Given the description of an element on the screen output the (x, y) to click on. 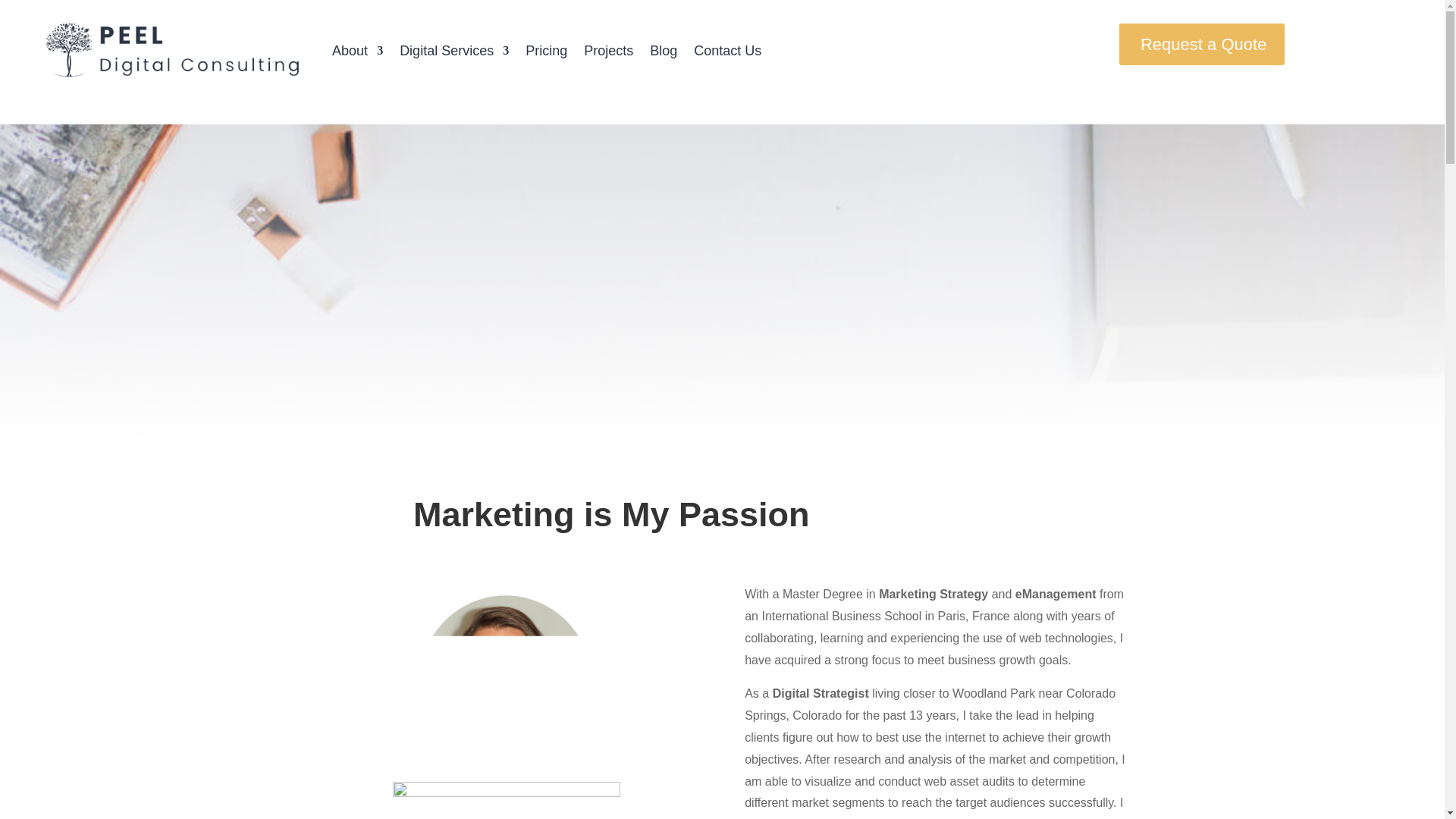
Request a Quote (1201, 44)
linkedin-badge (506, 800)
Contact Us (727, 50)
Digital Services (453, 50)
Business School in Paris, France (885, 615)
